Given the description of an element on the screen output the (x, y) to click on. 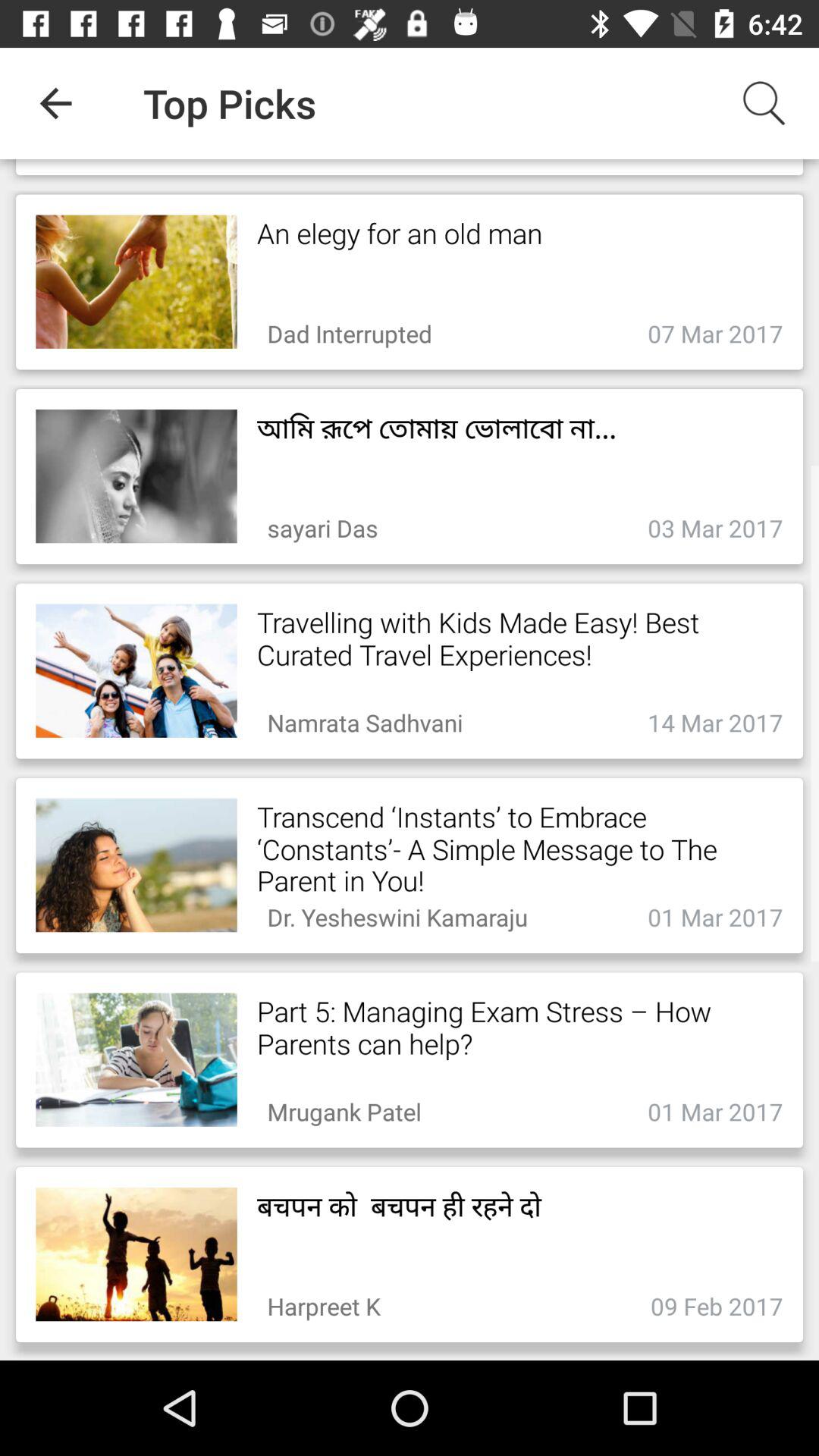
flip until the namrata sadhvani item (365, 718)
